Given the description of an element on the screen output the (x, y) to click on. 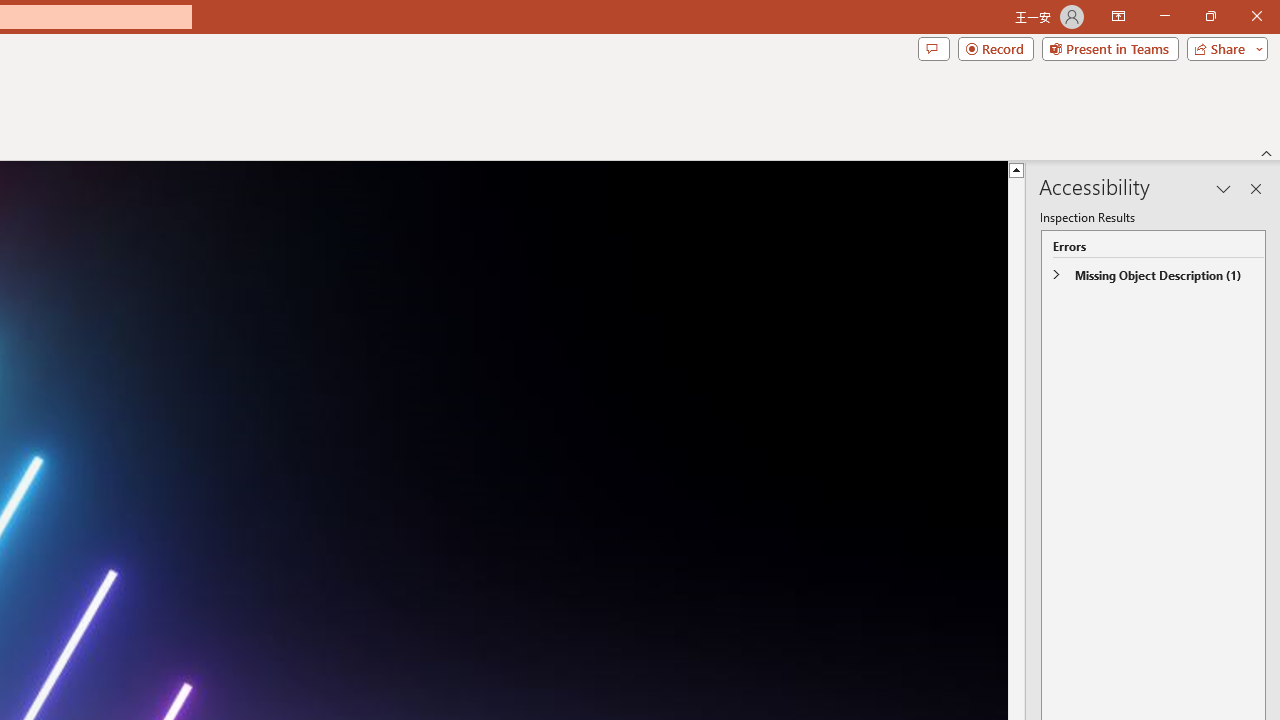
Present in Teams (1109, 48)
Collapse the Ribbon (1267, 152)
Share (1223, 48)
Minimize (1164, 16)
Ribbon Display Options (1118, 16)
Close pane (1256, 188)
Comments (933, 48)
Restore Down (1210, 16)
Close (1256, 16)
Task Pane Options (1224, 188)
